Given the description of an element on the screen output the (x, y) to click on. 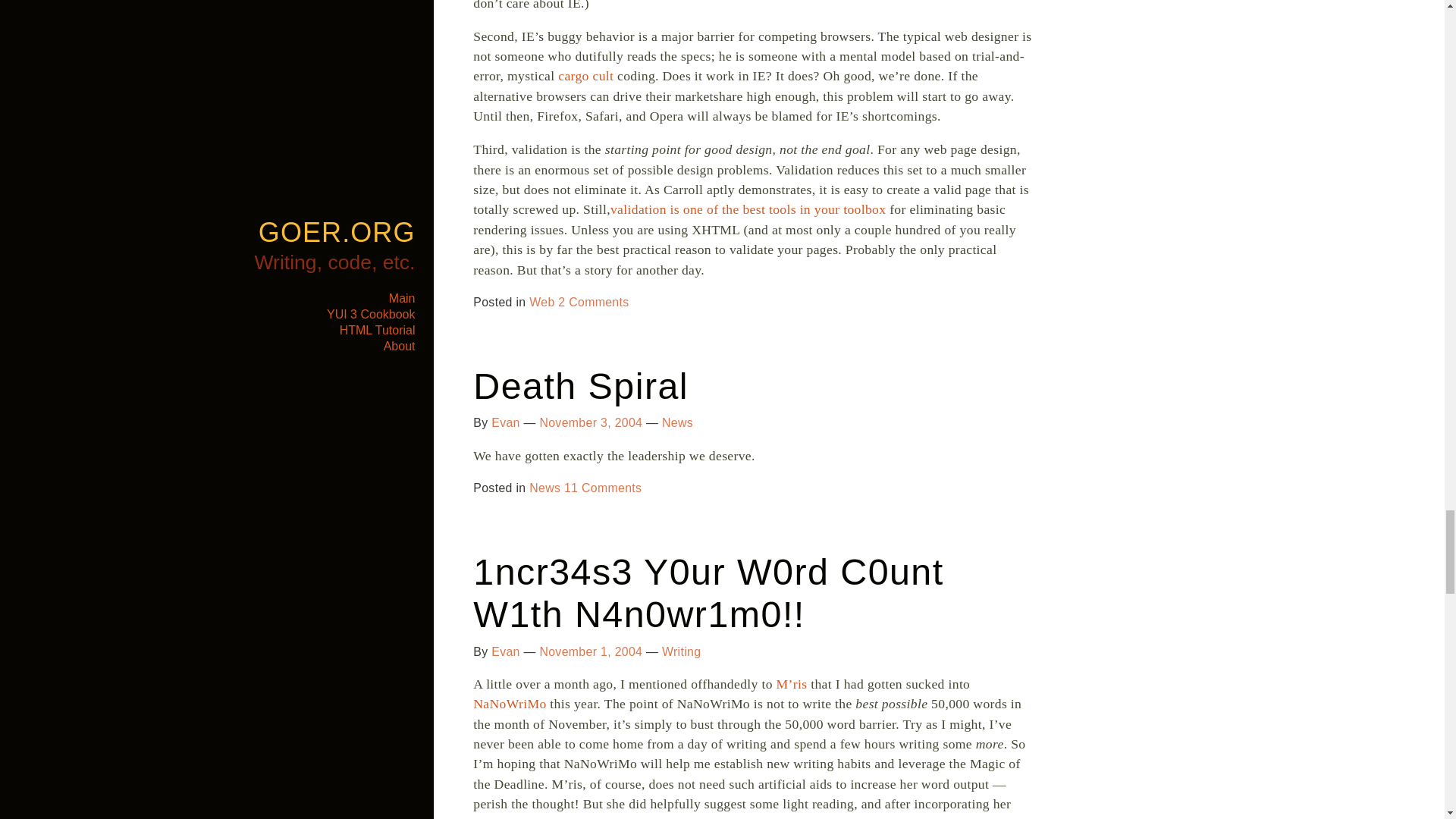
explanation of cargo cult science (584, 75)
National Novel Writing Month (509, 703)
a Mark Pilgrim classic (747, 209)
